Given the description of an element on the screen output the (x, y) to click on. 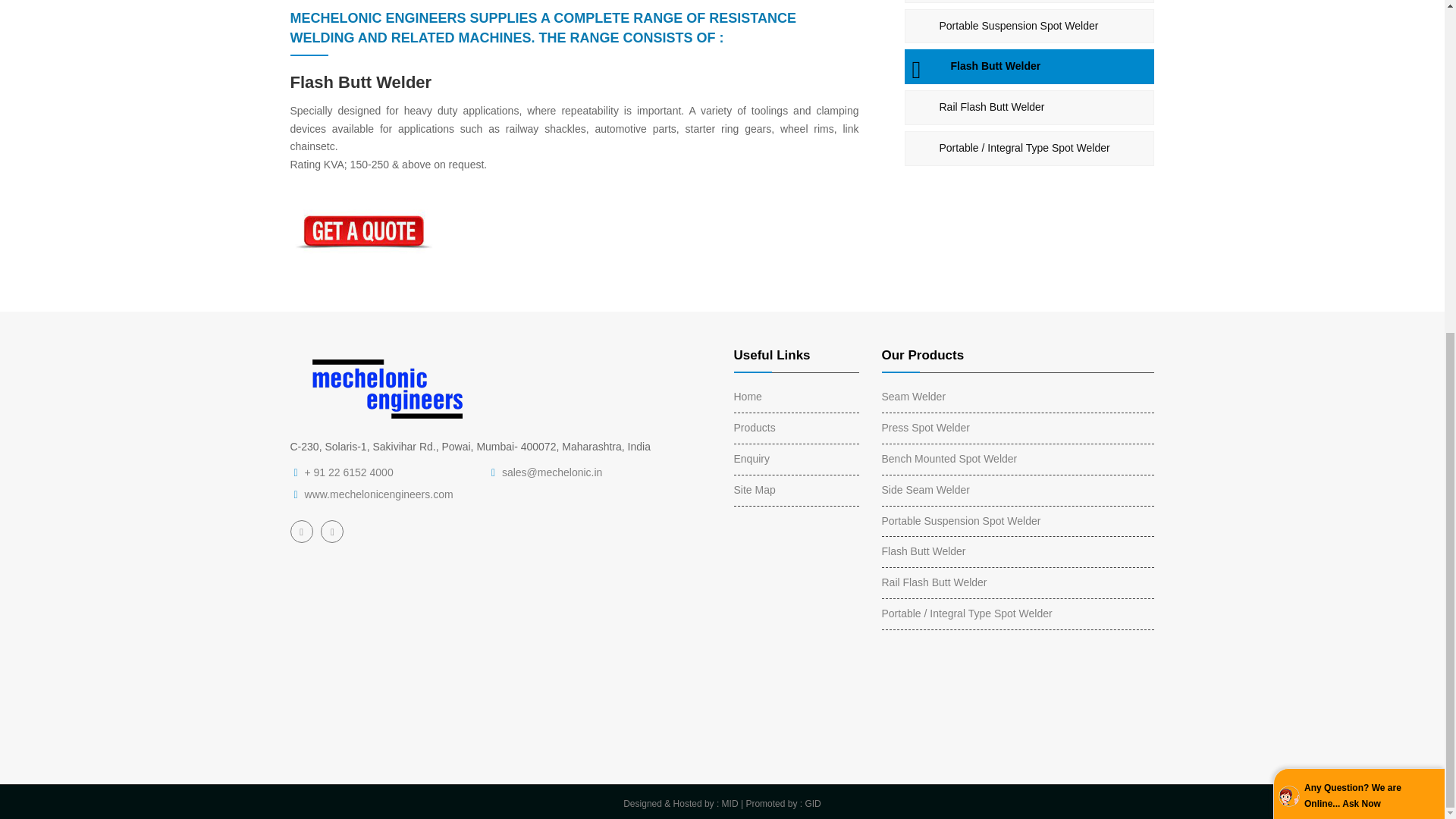
Bench Mounted Spot Welder (948, 458)
Side Seam Welder (1029, 1)
Products (754, 427)
Press Spot Welder (924, 427)
Home (747, 396)
www.mechelonicengineers.com (378, 494)
Site Map (754, 490)
Enquiry (751, 458)
Rail Flash Butt Welder (1029, 107)
Flash Butt Welder (1029, 66)
